Given the description of an element on the screen output the (x, y) to click on. 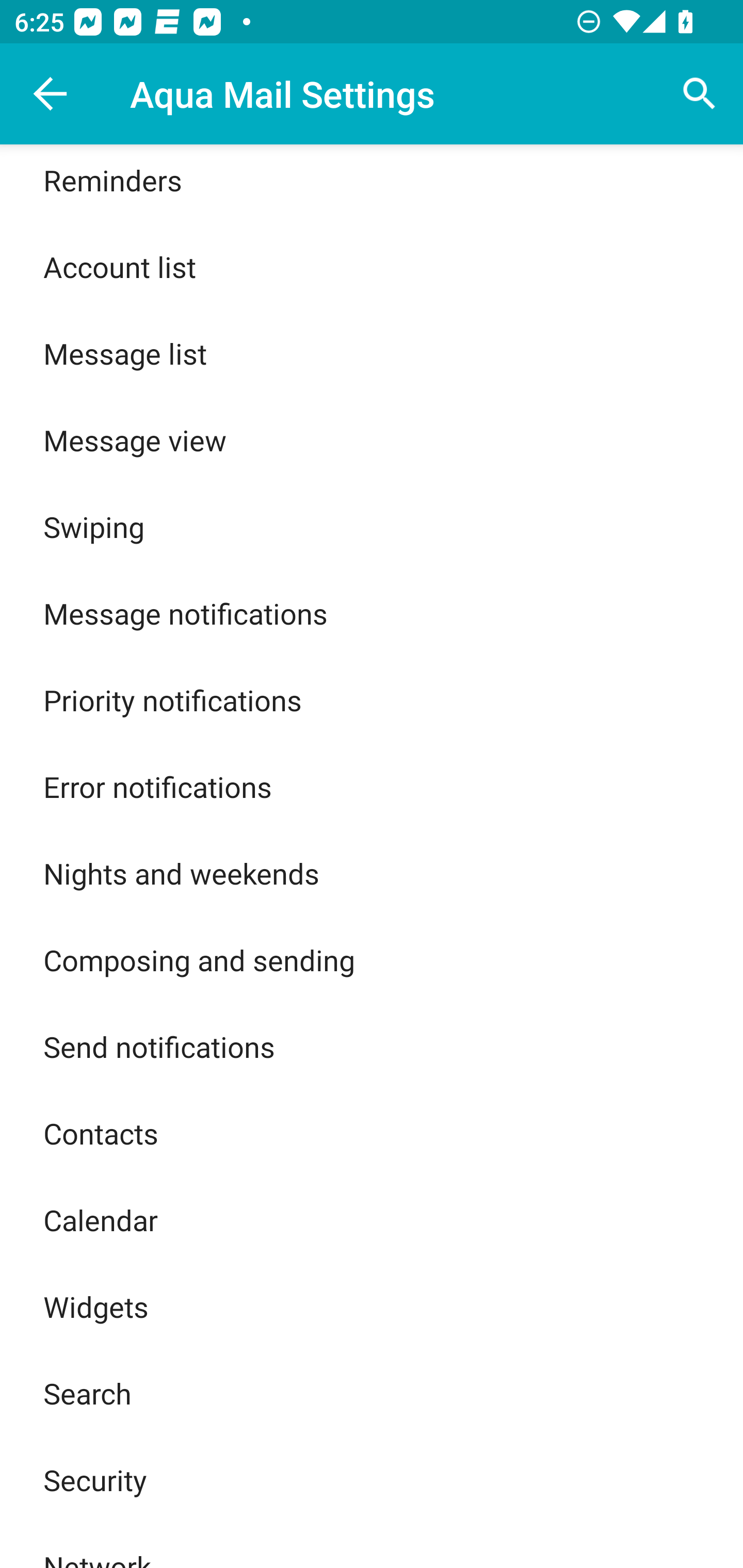
Navigate up (50, 93)
Search (699, 93)
Reminders (371, 183)
Account list (371, 266)
Message list (371, 353)
Message view (371, 439)
Swiping (371, 525)
Message notifications (371, 612)
Priority notifications (371, 699)
Error notifications (371, 786)
Nights and weekends (371, 873)
Composing and sending (371, 960)
Send notifications (371, 1046)
Contacts (371, 1132)
Calendar (371, 1219)
Widgets (371, 1306)
Search (371, 1393)
Security (371, 1479)
